Given the description of an element on the screen output the (x, y) to click on. 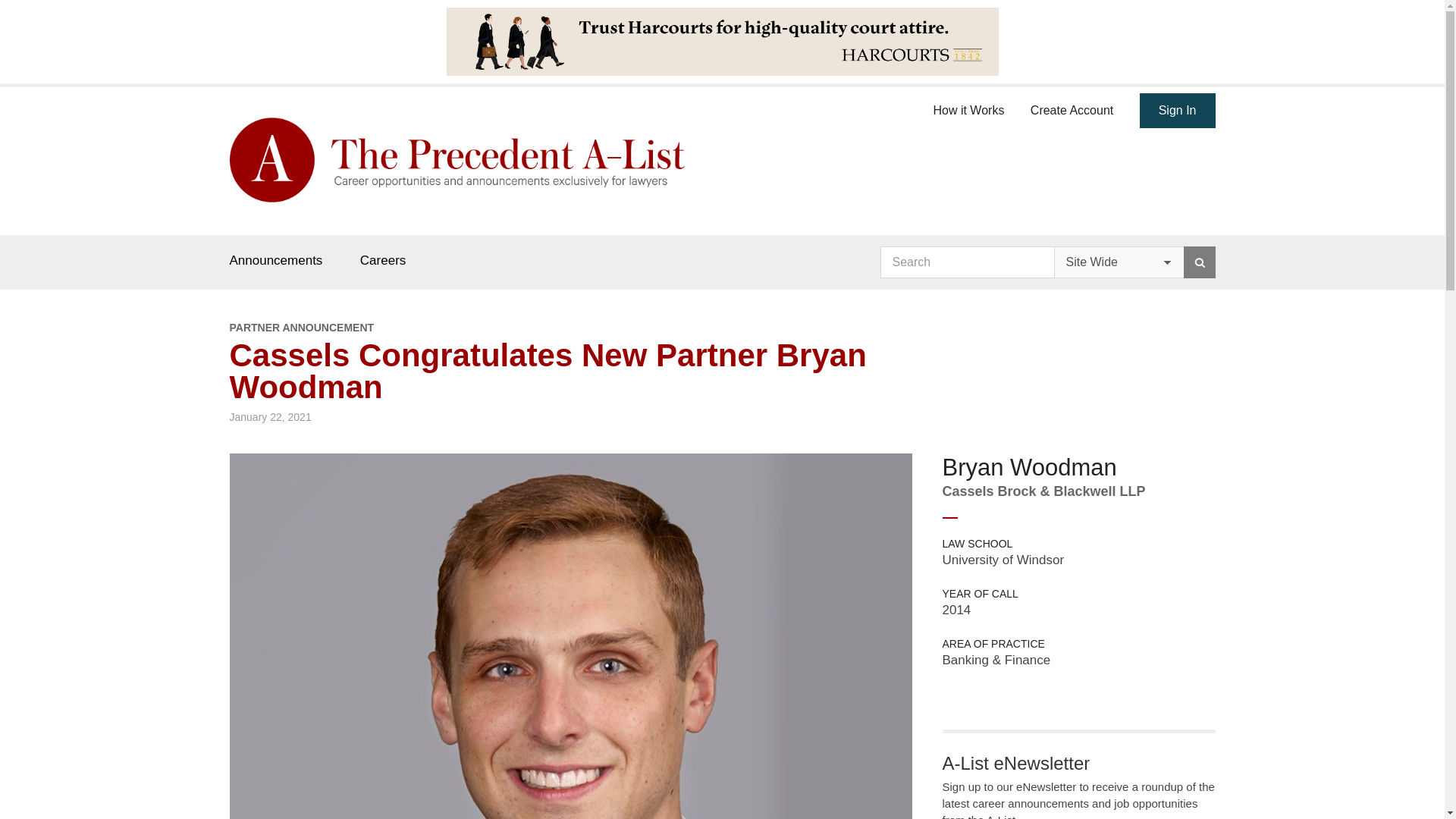
How it Works (968, 107)
Careers (382, 260)
Sign In (1177, 110)
PARTNER ANNOUNCEMENT (569, 327)
Announcements (274, 260)
Create Account (1071, 107)
